Given the description of an element on the screen output the (x, y) to click on. 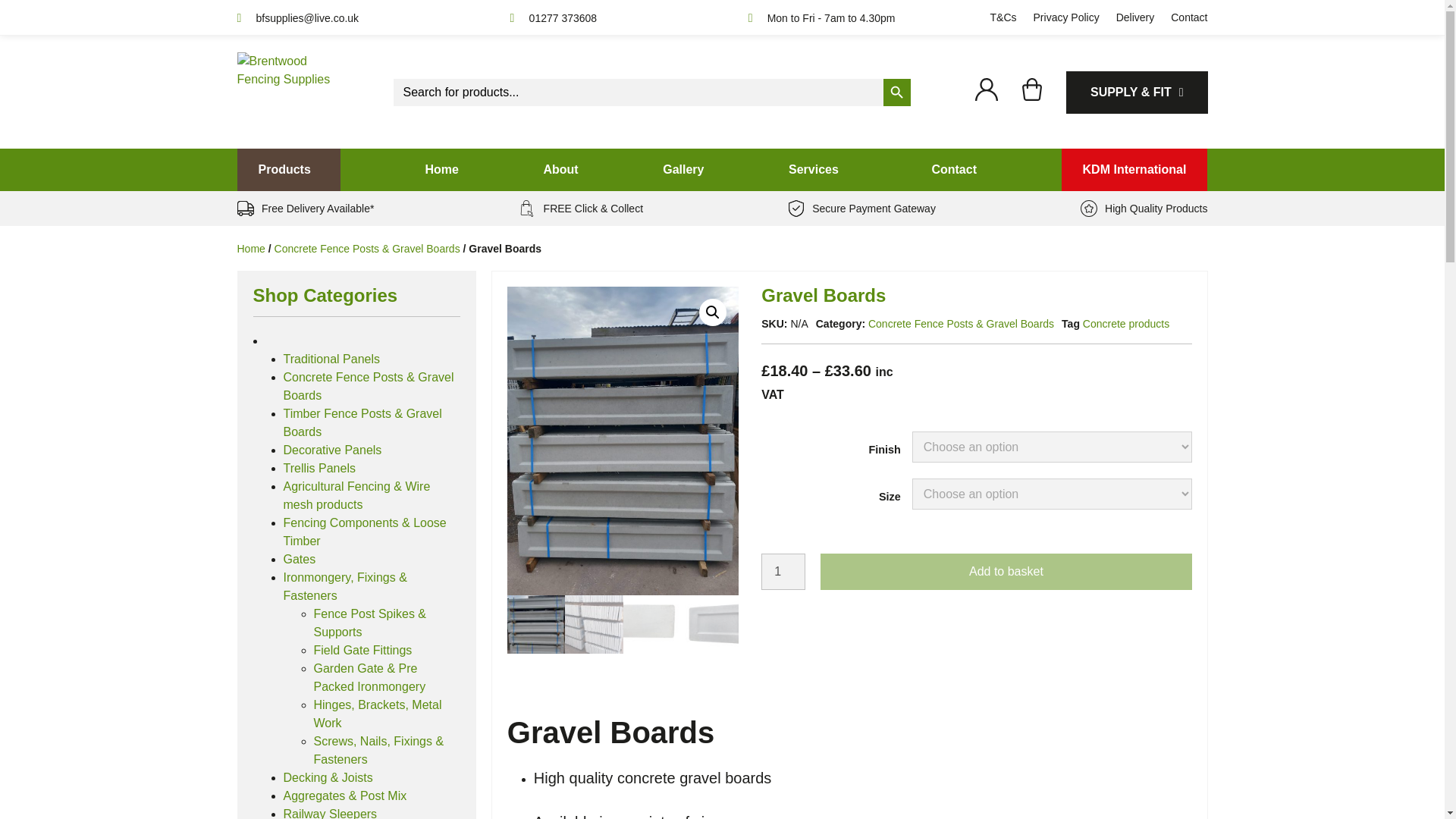
Contact (1188, 16)
Search Button (896, 92)
Delivery (1135, 16)
Products (287, 169)
01277 373608 (553, 18)
1 (783, 571)
Privacy Policy (1066, 16)
